Given the description of an element on the screen output the (x, y) to click on. 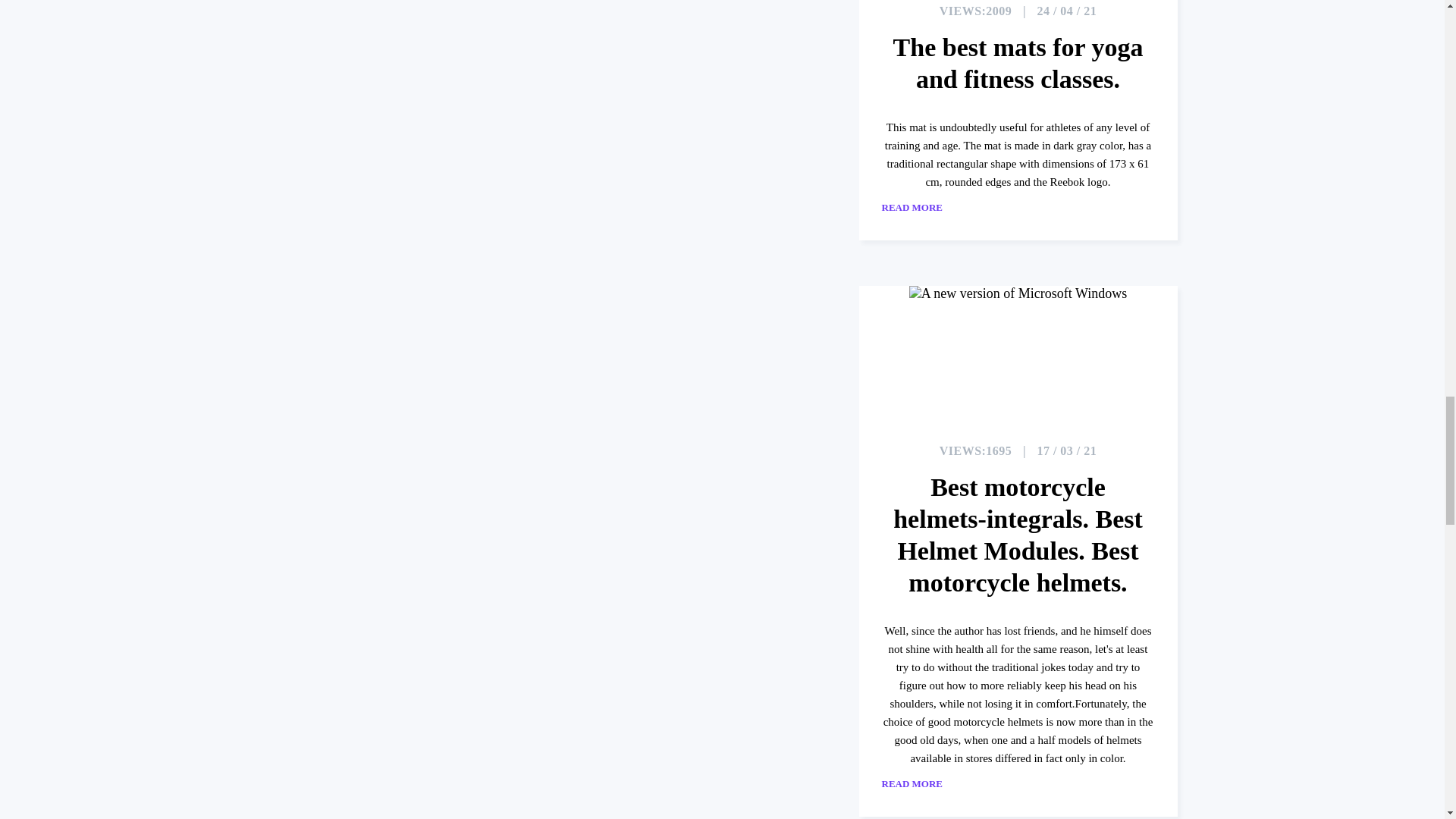
READ MORE (928, 207)
The best mats for yoga and fitness classes. (1017, 63)
Microsoft will soon introduce a new version of Windows  (1017, 353)
READ MORE (928, 784)
